Given the description of an element on the screen output the (x, y) to click on. 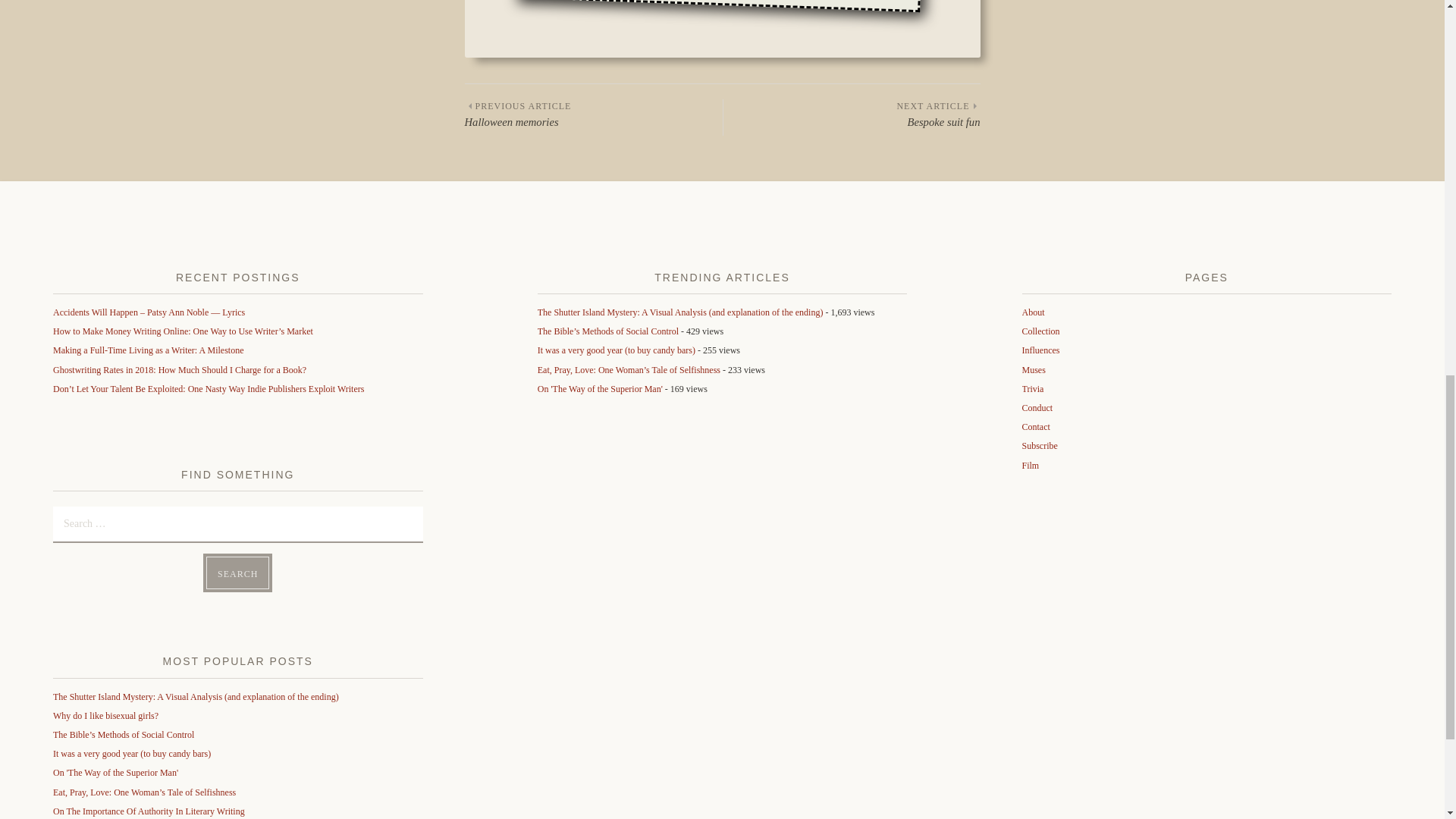
Why do I like bisexual girls? (105, 715)
On The Importance Of Authority In Literary Writing (851, 115)
Search (148, 810)
On 'The Way of the Superior Man' (237, 572)
Search (114, 772)
Search (593, 115)
Making a Full-Time Living as a Writer: A Milestone (237, 572)
